Given the description of an element on the screen output the (x, y) to click on. 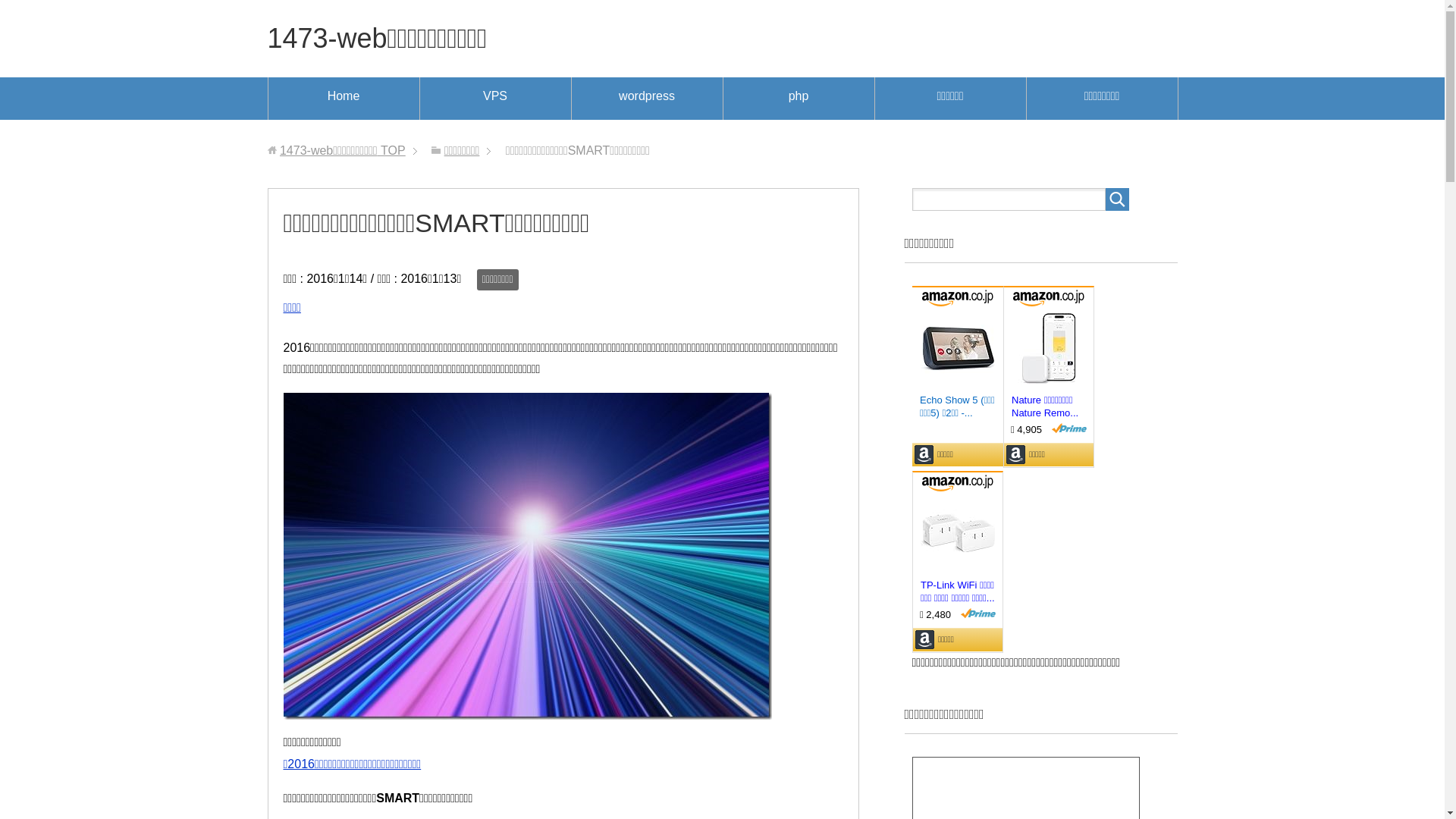
wordpress Element type: text (646, 98)
targetsettei Element type: hover (527, 555)
VPS Element type: text (495, 98)
Add this entry to Hatena Bookmark. Element type: hover (333, 308)
php Element type: text (798, 98)
Home Element type: text (343, 98)
